Given the description of an element on the screen output the (x, y) to click on. 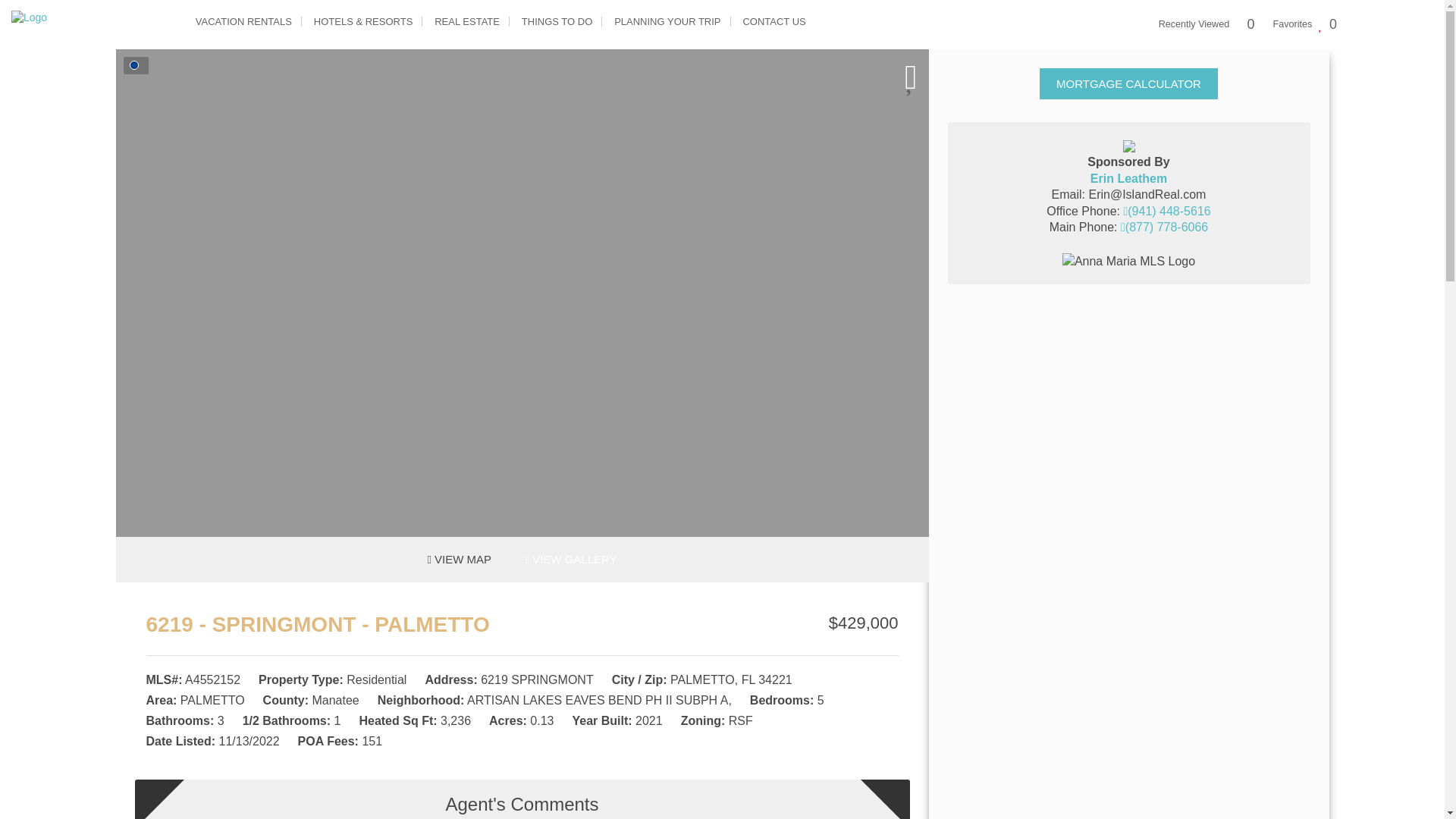
REAL ESTATE (467, 21)
Properties you have Recently Viewed (1206, 23)
PLANNING YOUR TRIP (667, 21)
VACATION RENTALS (243, 21)
THINGS TO DO (557, 21)
Your Favorited Properties (1305, 23)
